Given the description of an element on the screen output the (x, y) to click on. 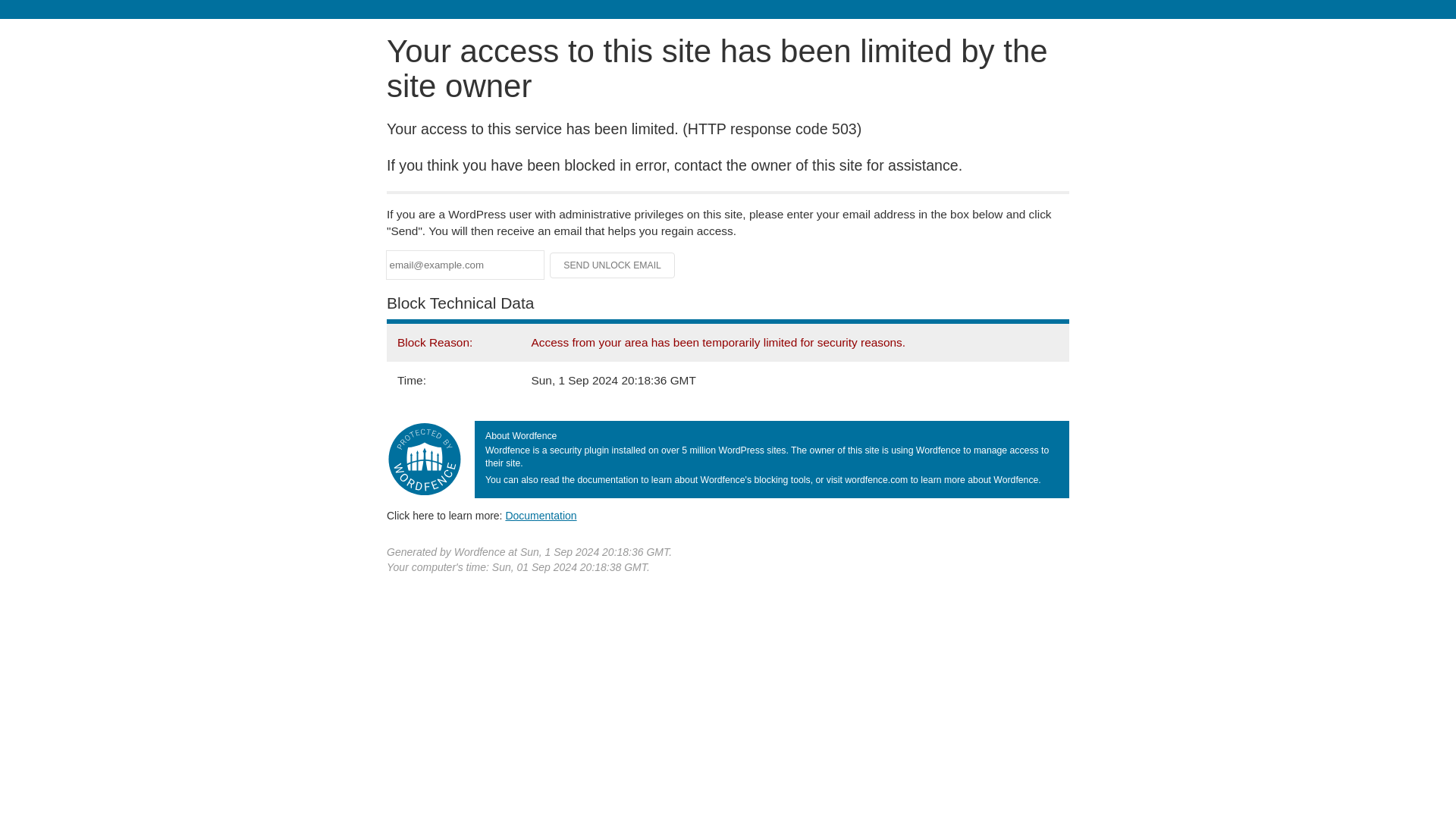
Send Unlock Email (612, 265)
Send Unlock Email (612, 265)
Documentation (540, 515)
